Given the description of an element on the screen output the (x, y) to click on. 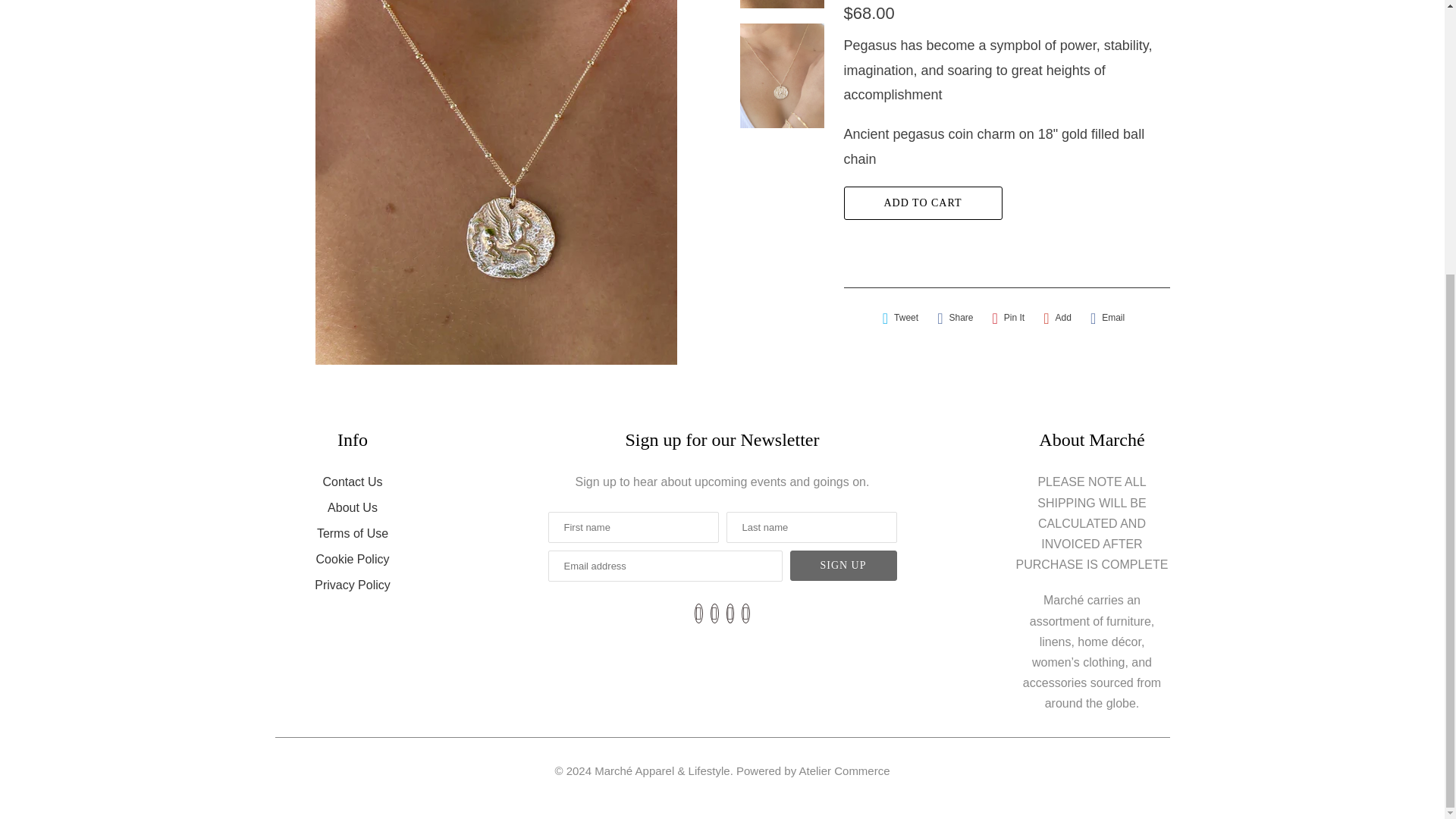
Share this on Twitter (900, 317)
Sign Up (843, 565)
Share this on Pinterest (1008, 317)
Share this on Facebook (954, 317)
Email this to a friend (1107, 317)
